Given the description of an element on the screen output the (x, y) to click on. 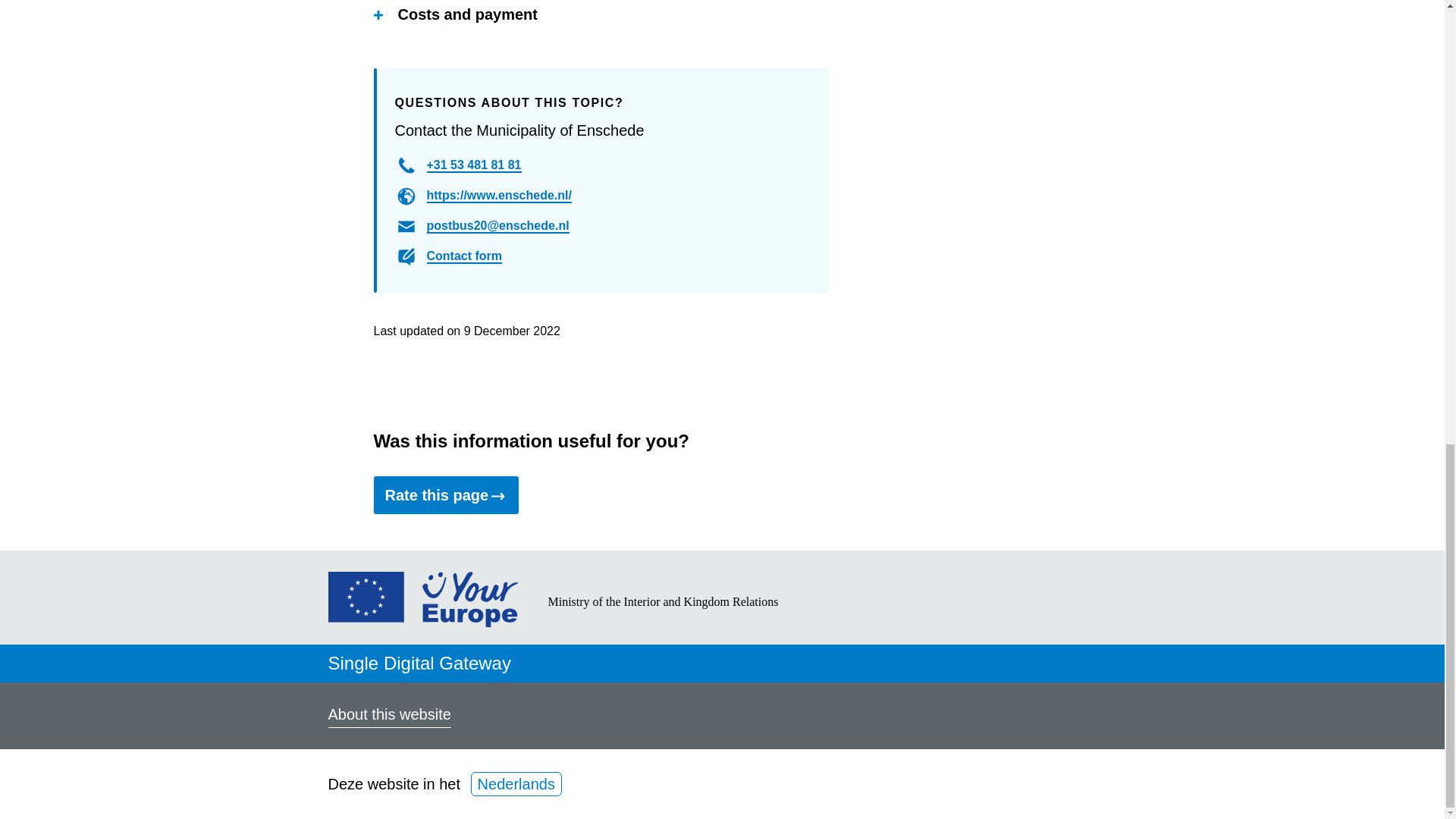
About this website (388, 715)
Nederlands (516, 784)
Costs and payment (454, 15)
Rate this page (445, 494)
Go to the European Union's Your Europe portal homepage (421, 621)
Contact form (464, 256)
